Given the description of an element on the screen output the (x, y) to click on. 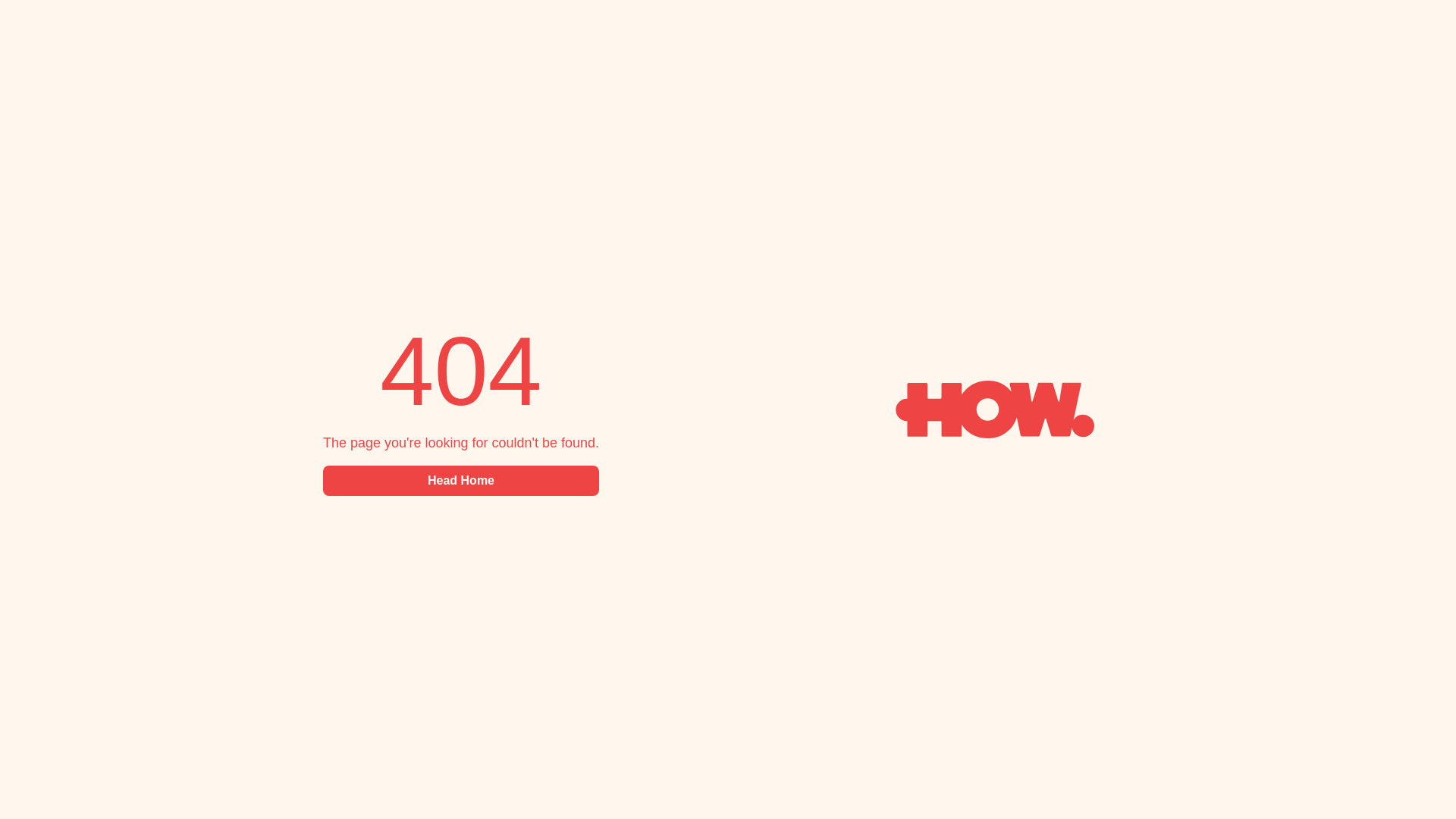
Head Home Element type: text (461, 480)
